Given the description of an element on the screen output the (x, y) to click on. 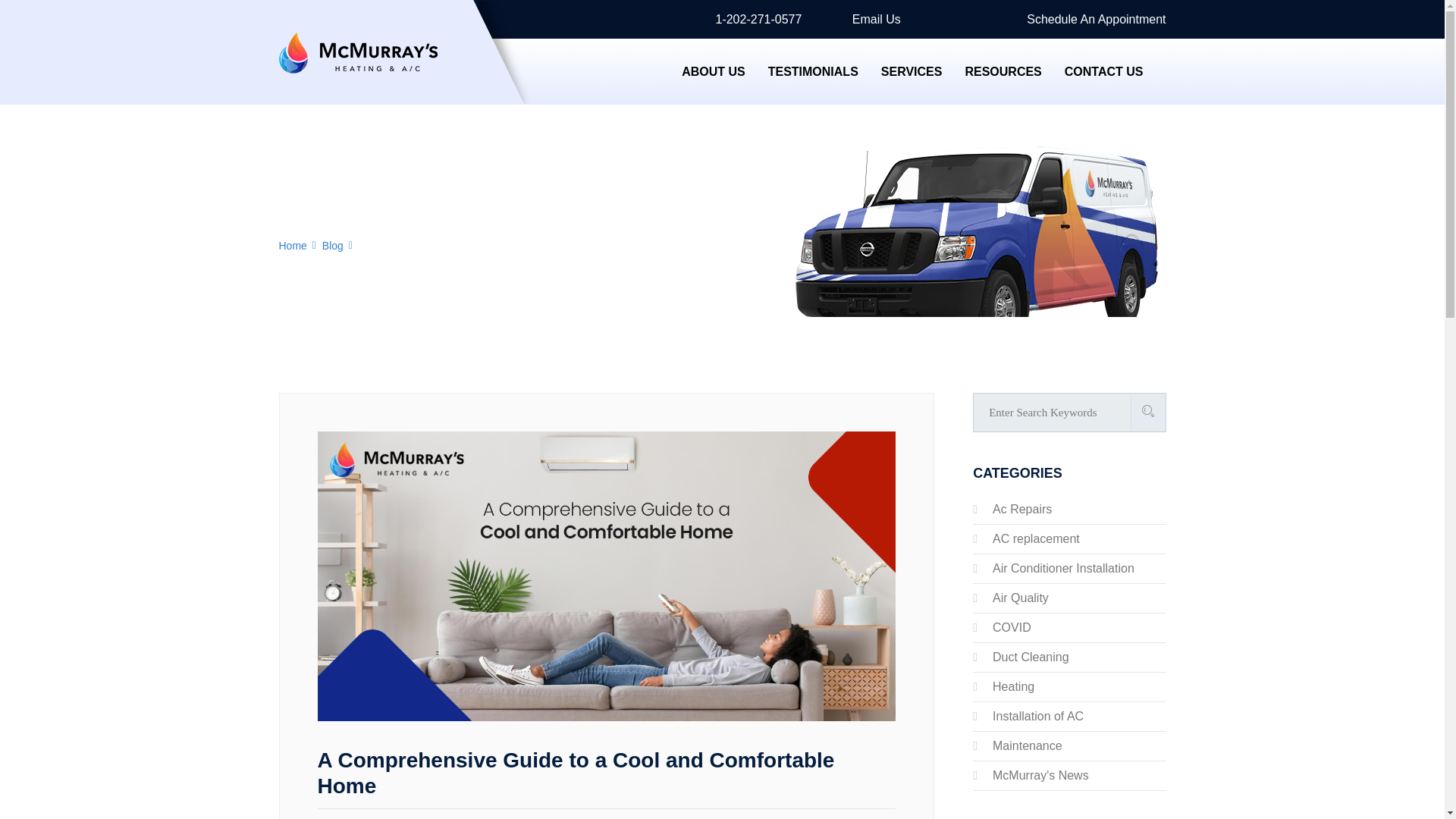
Testimonials (813, 71)
Duct Cleaning (1030, 656)
Blog (332, 245)
Air Quality (1020, 597)
AC replacement (1036, 538)
1-202-271-0577 (752, 19)
Ac Repairs (1021, 508)
Heating and AC Repair in Washington DC (358, 70)
Home (293, 245)
ABOUT US (713, 71)
TESTIMONIALS (813, 71)
Resources (1002, 71)
Heating (1012, 686)
Schedule An Appointment (1090, 19)
RESOURCES (1002, 71)
